Given the description of an element on the screen output the (x, y) to click on. 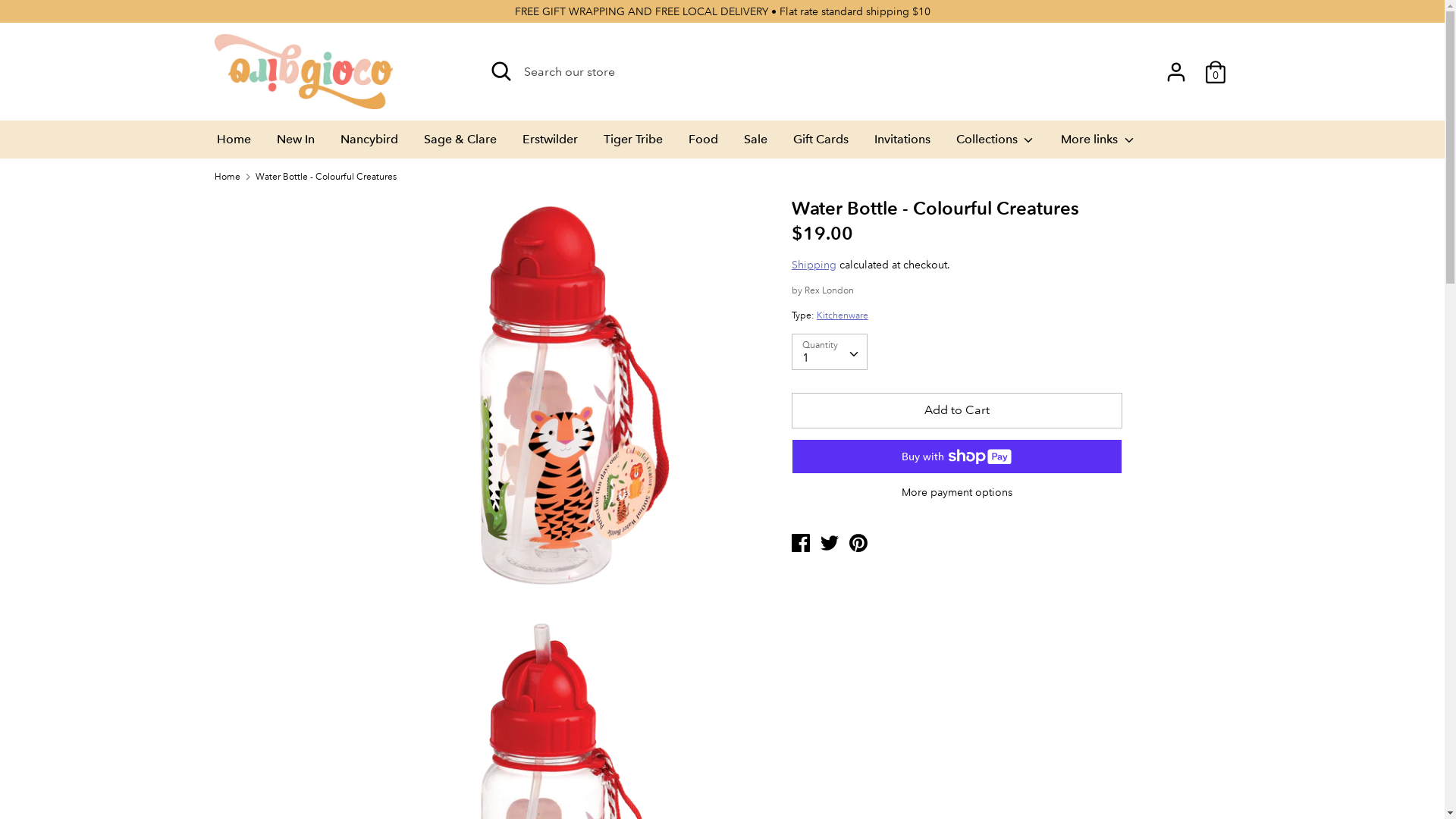
Erstwilder Element type: text (550, 143)
Tweet on Twitter Element type: text (830, 540)
Add to Cart Element type: text (956, 409)
Nancybird Element type: text (369, 143)
Kitchenware Element type: text (842, 314)
Tiger Tribe Element type: text (632, 143)
0 Element type: text (1214, 66)
Rex London Element type: text (828, 289)
Home Element type: text (232, 143)
New In Element type: text (295, 143)
Pin on Pinterest Element type: text (858, 540)
Sage & Clare Element type: text (460, 143)
Share on Facebook Element type: text (801, 540)
Water Bottle - Colourful Creatures Element type: text (325, 176)
More payment options Element type: text (956, 492)
Collections Element type: text (995, 143)
Home Element type: text (226, 176)
More links Element type: text (1098, 143)
Food Element type: text (702, 143)
Invitations Element type: text (901, 143)
Shipping Element type: text (813, 264)
Sale Element type: text (755, 143)
Gift Cards Element type: text (820, 143)
